Given the description of an element on the screen output the (x, y) to click on. 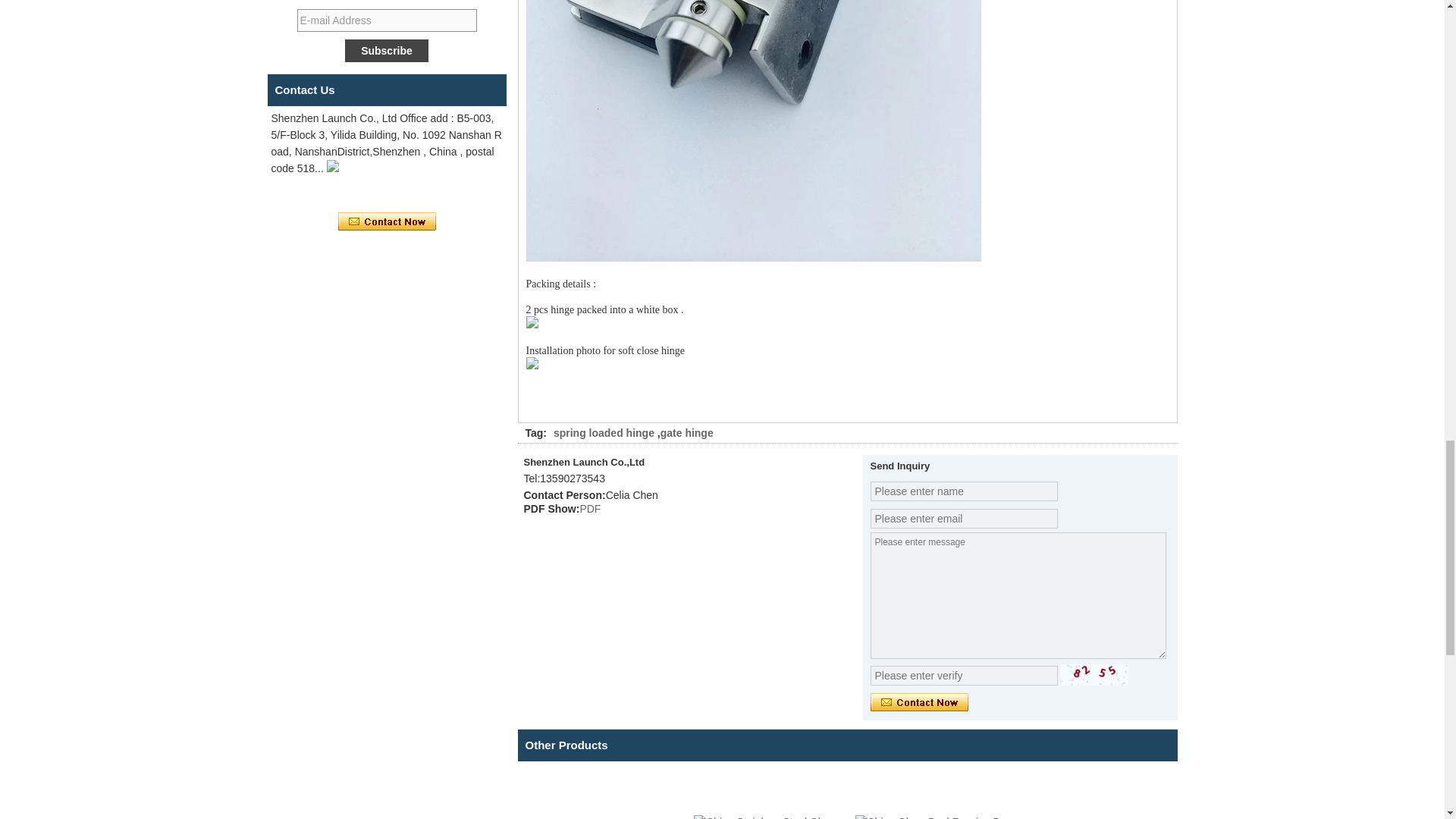
Contact Now (919, 702)
Subscribe (386, 50)
E-mail Address (387, 20)
